Given the description of an element on the screen output the (x, y) to click on. 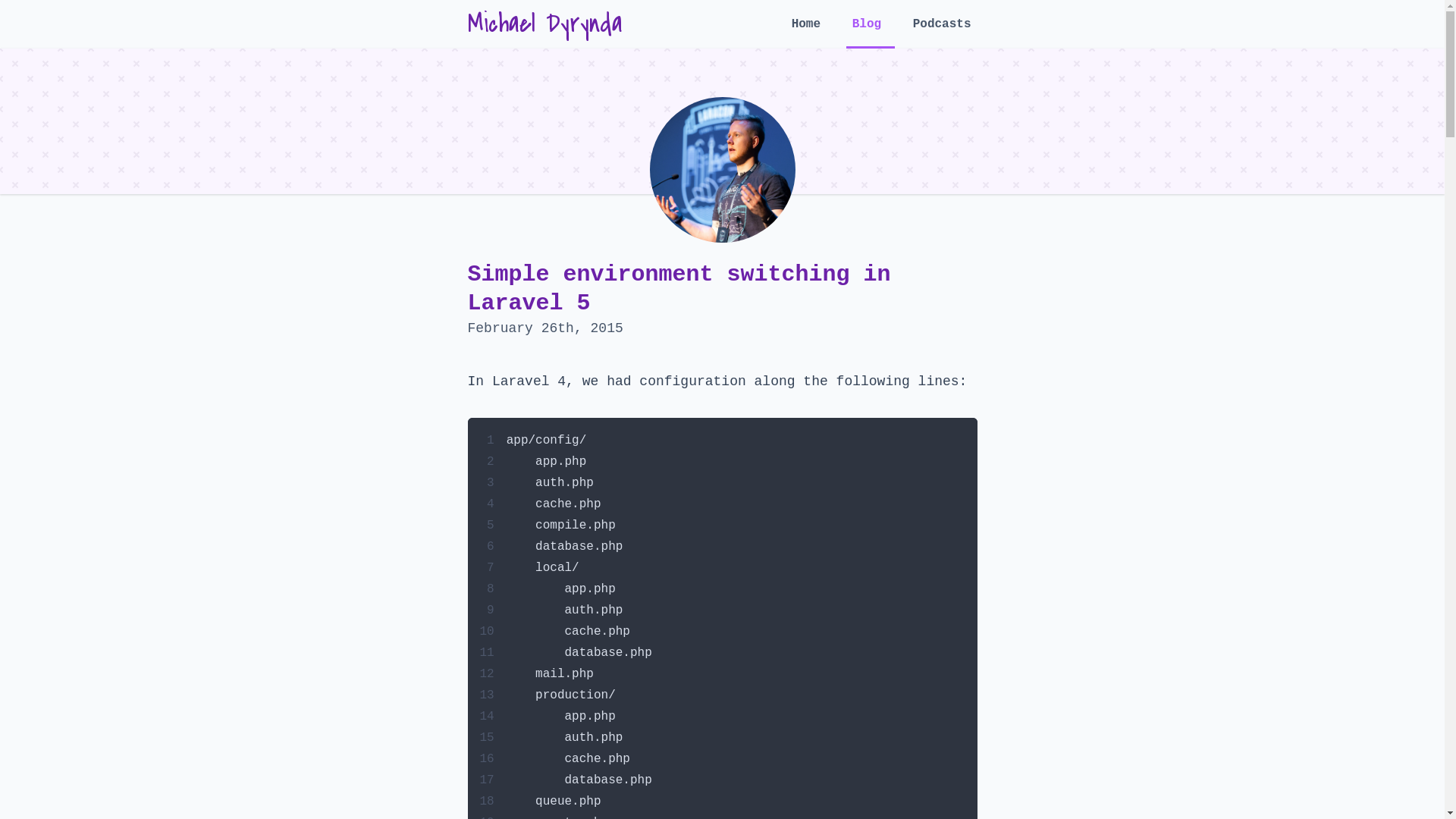
Podcasts Element type: text (941, 31)
Home Element type: text (809, 31)
Michael Dyrynda Element type: text (544, 23)
Blog Element type: text (870, 33)
